Given the description of an element on the screen output the (x, y) to click on. 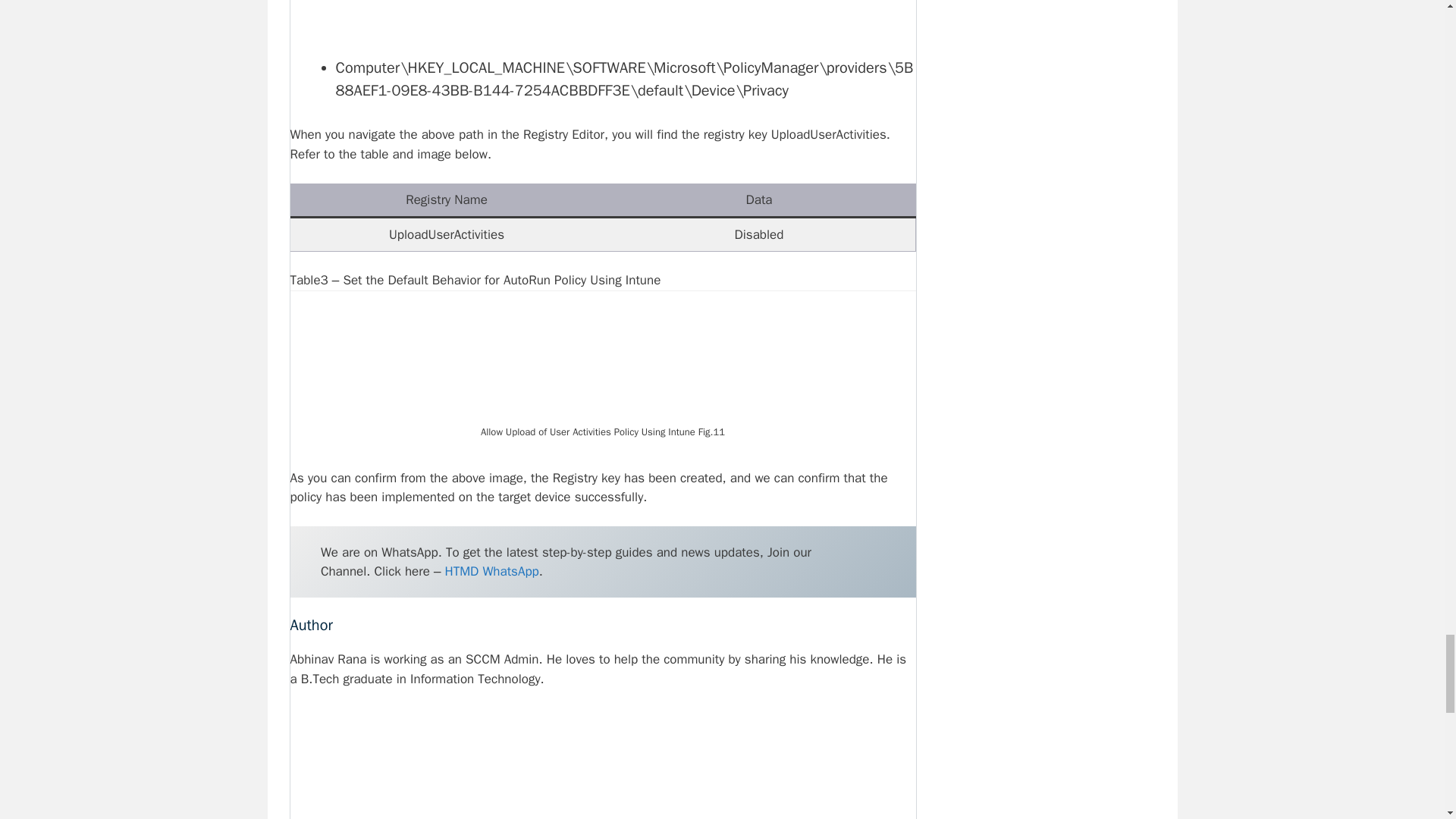
HTMD WhatsApp (491, 571)
